Given the description of an element on the screen output the (x, y) to click on. 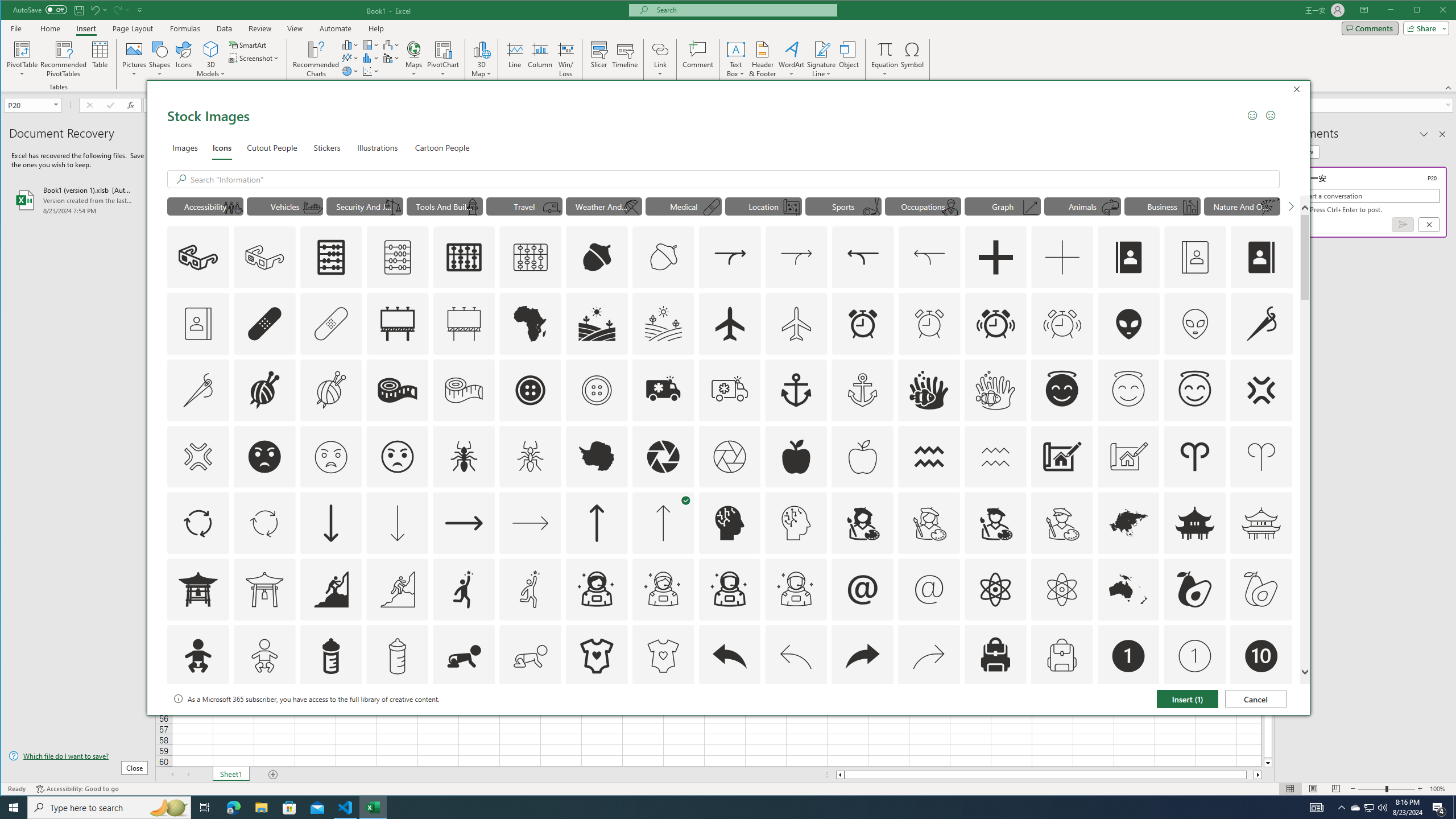
"Security And Justice" Icons. (1368, 807)
AutomationID: Icons_Aquarius_M (364, 206)
Microsoft Store (995, 456)
Insert Combo Chart (289, 807)
AutomationID: Icons_Elliptical_M (391, 57)
AutomationID: Icons_AstronautFemale_M (870, 207)
AutomationID: Icons_AlterationsTailoring1 (663, 589)
